Given the description of an element on the screen output the (x, y) to click on. 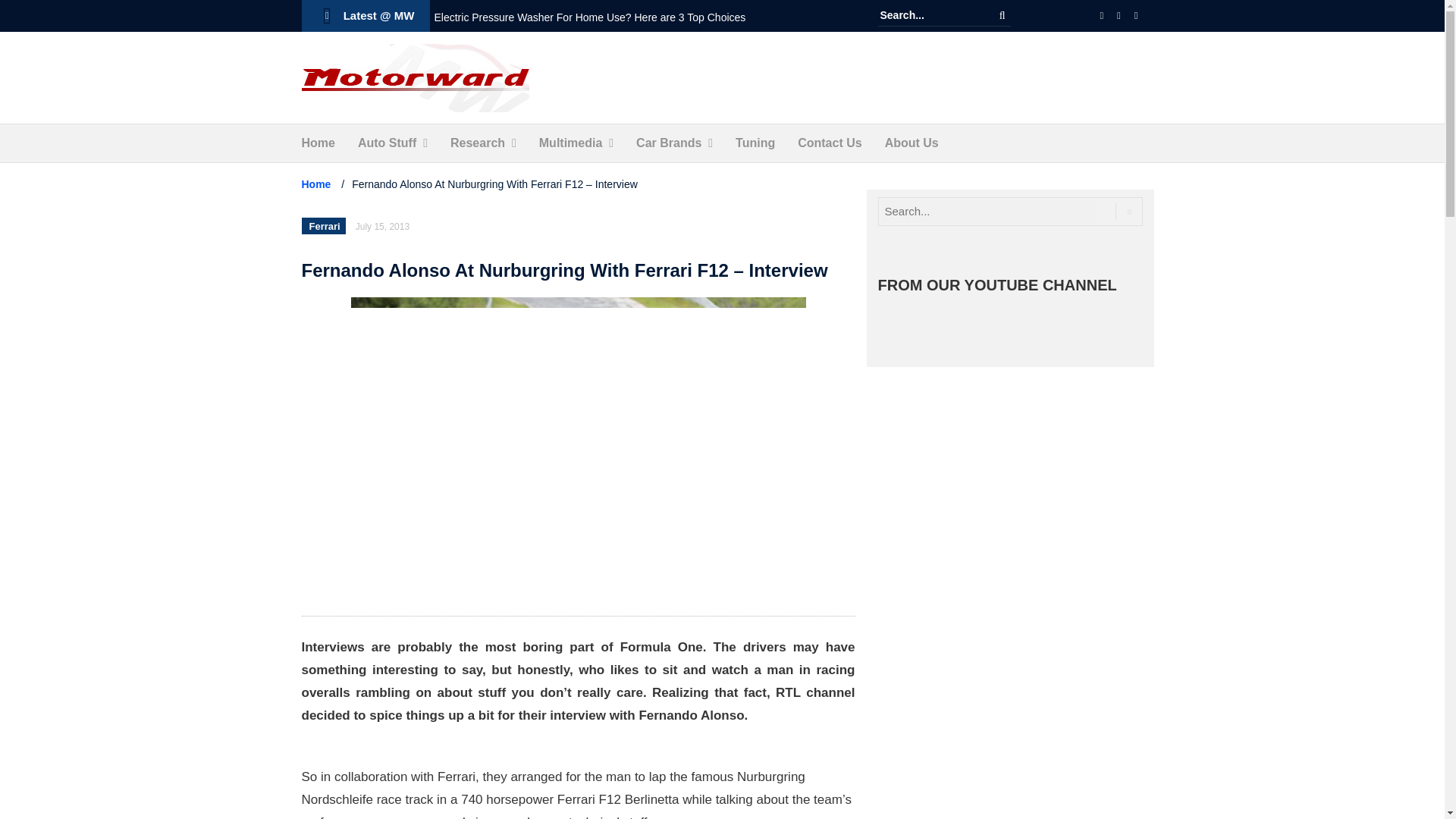
Auto Stuff (387, 143)
Multimedia (570, 143)
Search   (1002, 14)
Home (317, 143)
Car Brands (668, 143)
Research (477, 143)
